Given the description of an element on the screen output the (x, y) to click on. 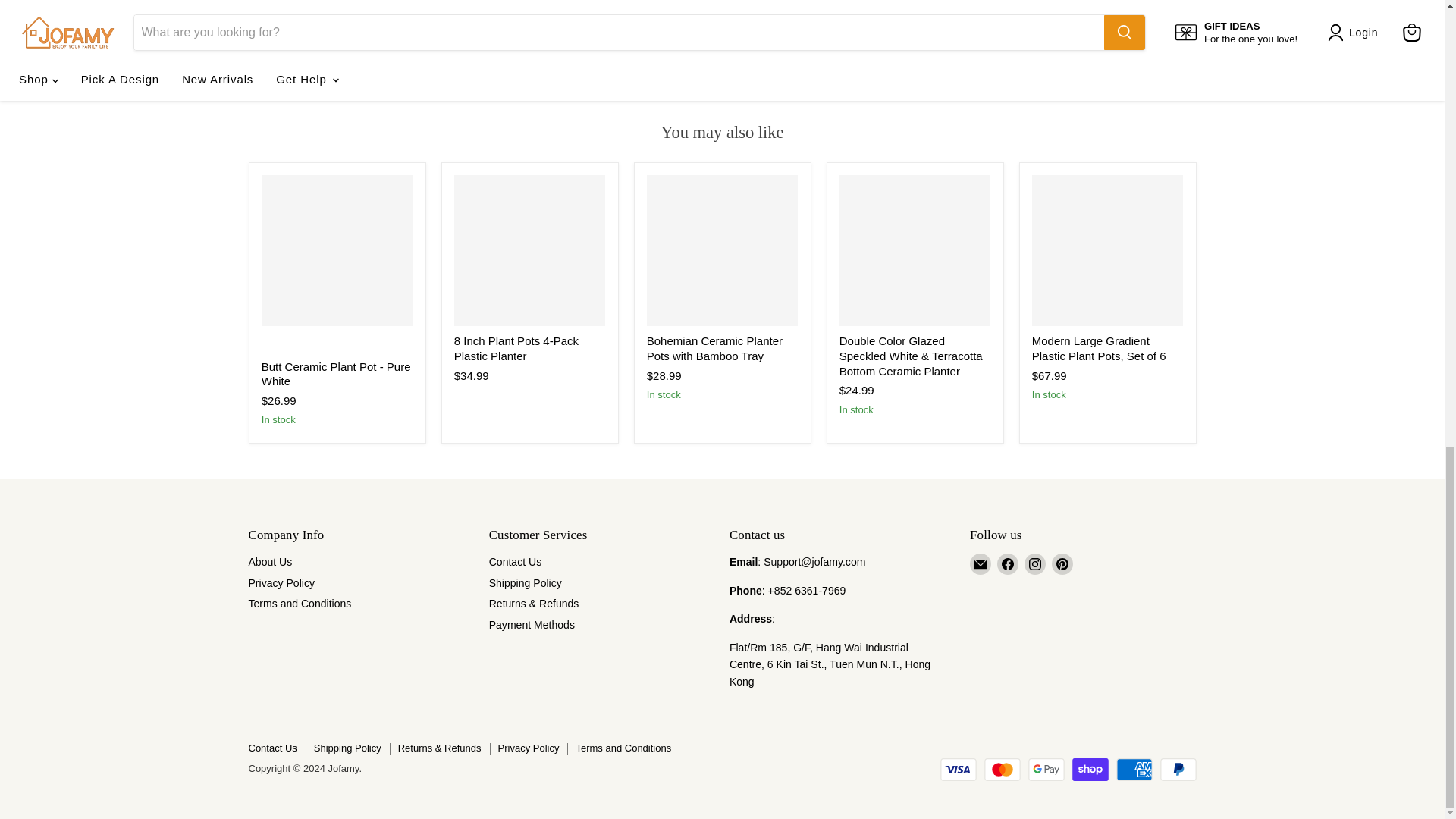
Pinterest (1062, 563)
Instagram (1035, 563)
Facebook (1007, 563)
Email (980, 563)
